Given the description of an element on the screen output the (x, y) to click on. 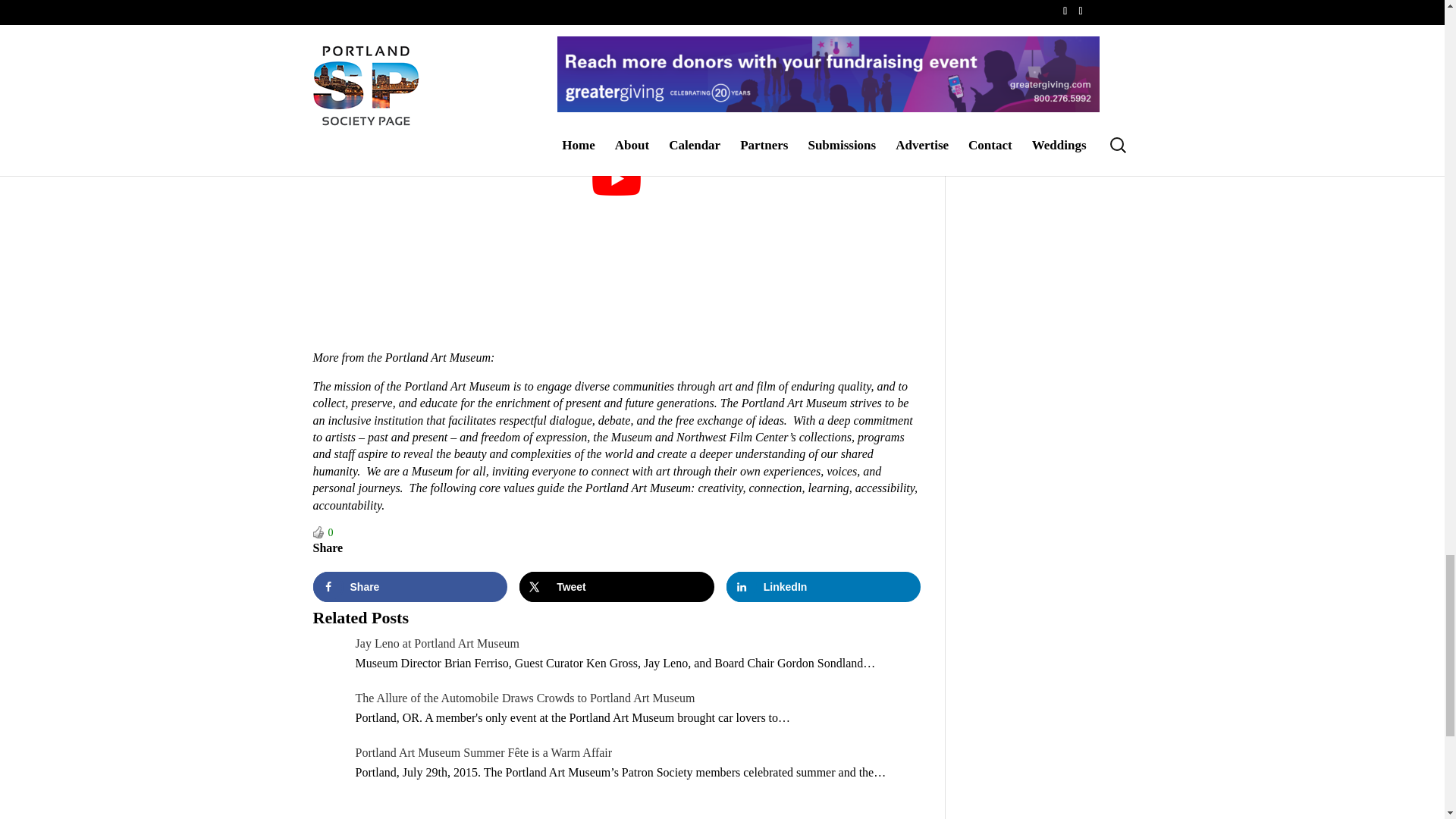
Share on X (616, 586)
Jay Leno at Portland Art Museum (437, 643)
Share on LinkedIn (823, 586)
LinkedIn (823, 586)
Share (409, 586)
Share on Facebook (409, 586)
Tweet (616, 586)
